Given the description of an element on the screen output the (x, y) to click on. 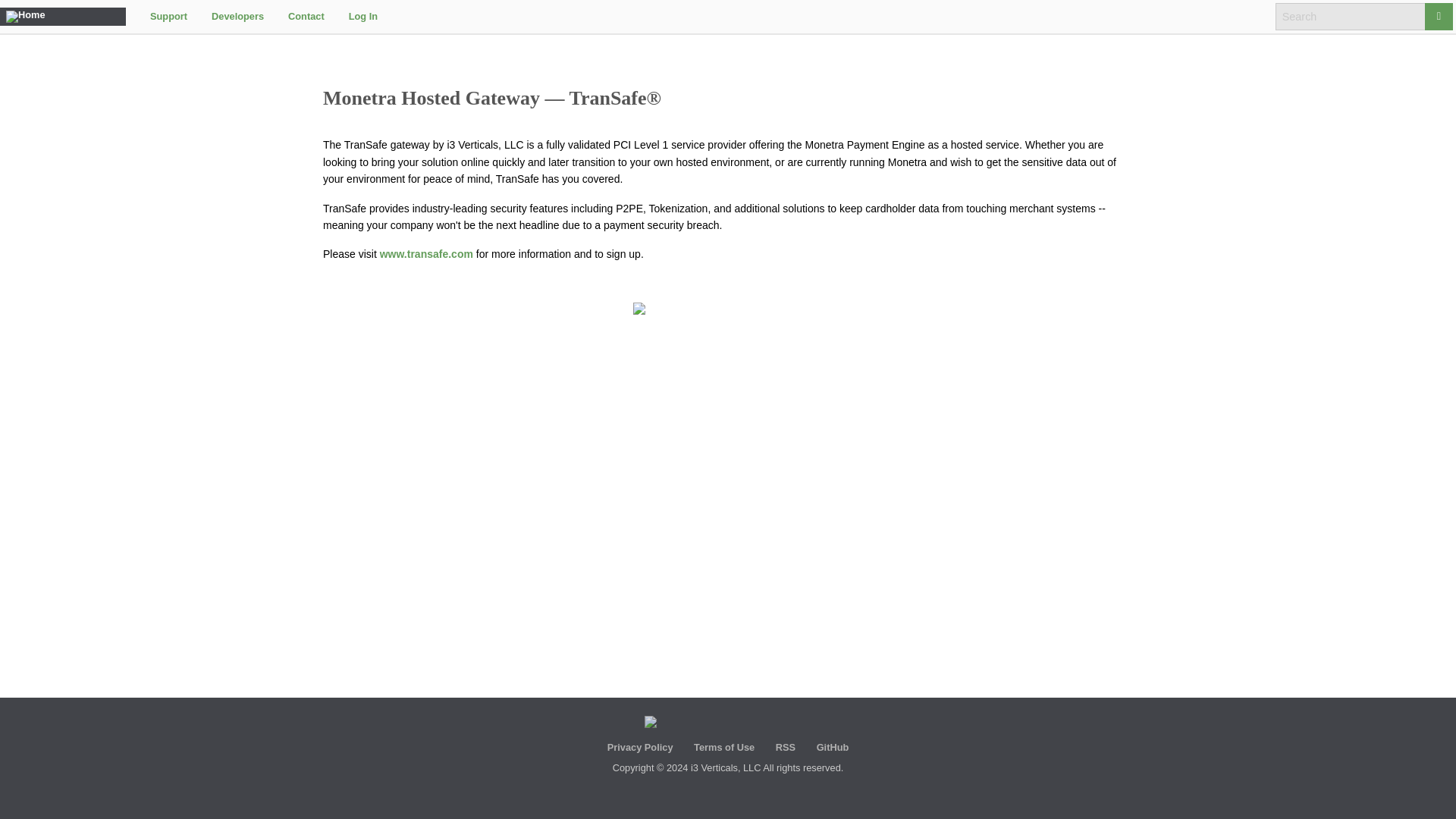
Support (168, 16)
RSS (785, 747)
Privacy Policy (639, 747)
Contact (306, 16)
Developers (237, 16)
GitHub (832, 747)
www.transafe.com (426, 254)
Terms of Use (724, 747)
Log In (363, 16)
